Given the description of an element on the screen output the (x, y) to click on. 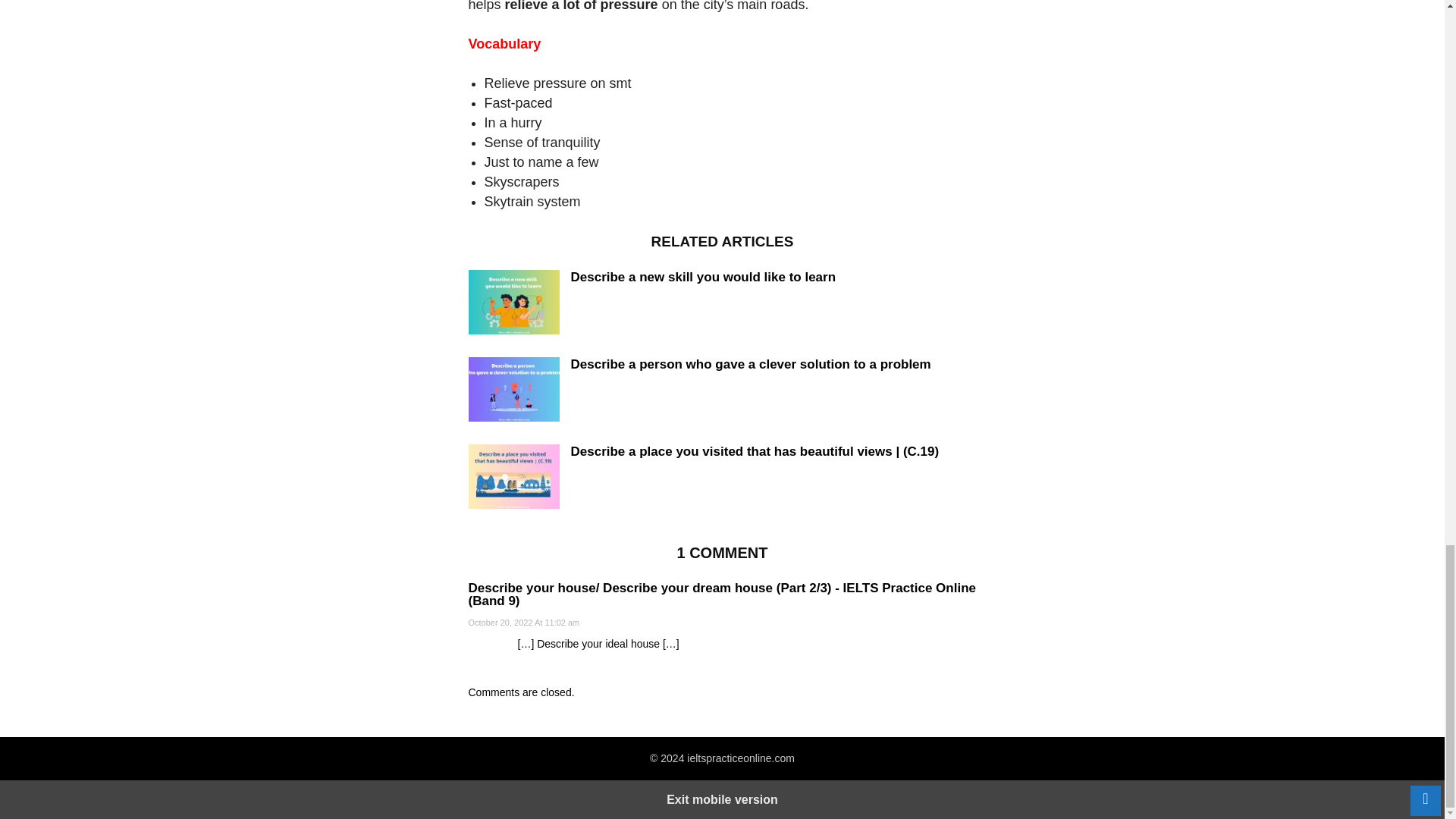
Describe a person who gave a clever solution to a problem (750, 364)
Describe a new skill you would like to learn (513, 304)
Describe a person who gave a clever solution to a problem (750, 364)
Describe a new skill you would like to learn (702, 277)
October 20, 2022 At 11:02 am (523, 622)
Describe a person who gave a clever solution to a problem (513, 391)
Describe a new skill you would like to learn (702, 277)
